Given the description of an element on the screen output the (x, y) to click on. 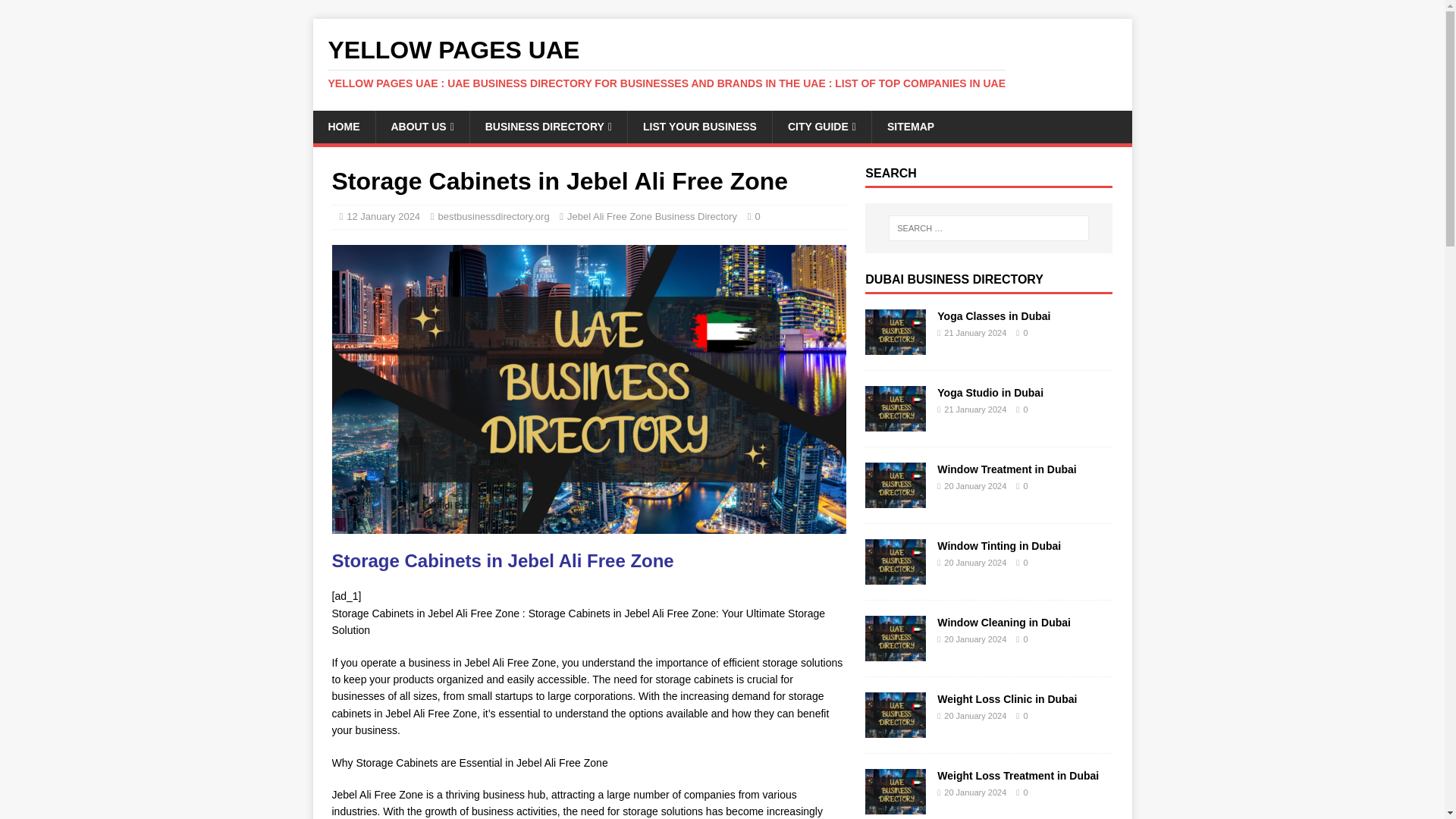
Window Tinting in Dubai (895, 576)
Yoga Studio in Dubai (990, 392)
Yoga Studio in Dubai (895, 422)
Window Treatment in Dubai (895, 499)
Window Treatment in Dubai (1006, 469)
ABOUT US (421, 126)
Yellow Pages UAE (721, 63)
Weight Loss Treatment in Dubai (895, 806)
Window Cleaning in Dubai (895, 653)
Yoga Classes in Dubai (993, 316)
Yoga Classes in Dubai (895, 346)
Window Cleaning in Dubai (1003, 622)
Weight Loss Treatment in Dubai (1018, 775)
